Given the description of an element on the screen output the (x, y) to click on. 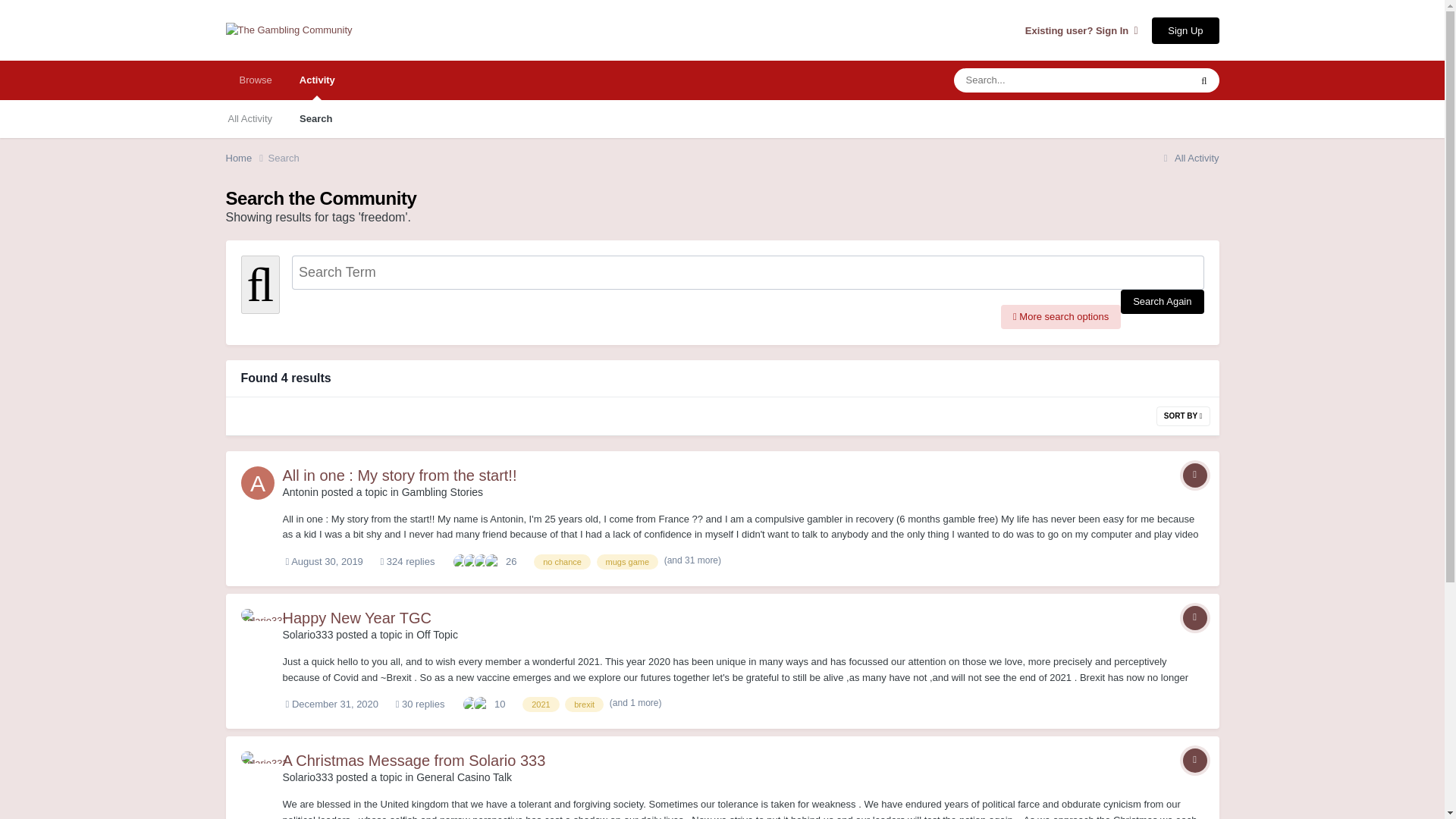
Search (315, 118)
All Activity (249, 118)
Sign Up (1184, 29)
Keeemon (482, 560)
Home (246, 158)
Go to Antonin's profile (299, 491)
Browse (255, 79)
Puke! (492, 560)
All Activity (1188, 157)
Search (283, 157)
Find other content tagged with 'no chance' (562, 561)
Existing user? Sign In   (1081, 30)
Topic (1194, 475)
Chaching! (471, 560)
Activity (317, 79)
